Given the description of an element on the screen output the (x, y) to click on. 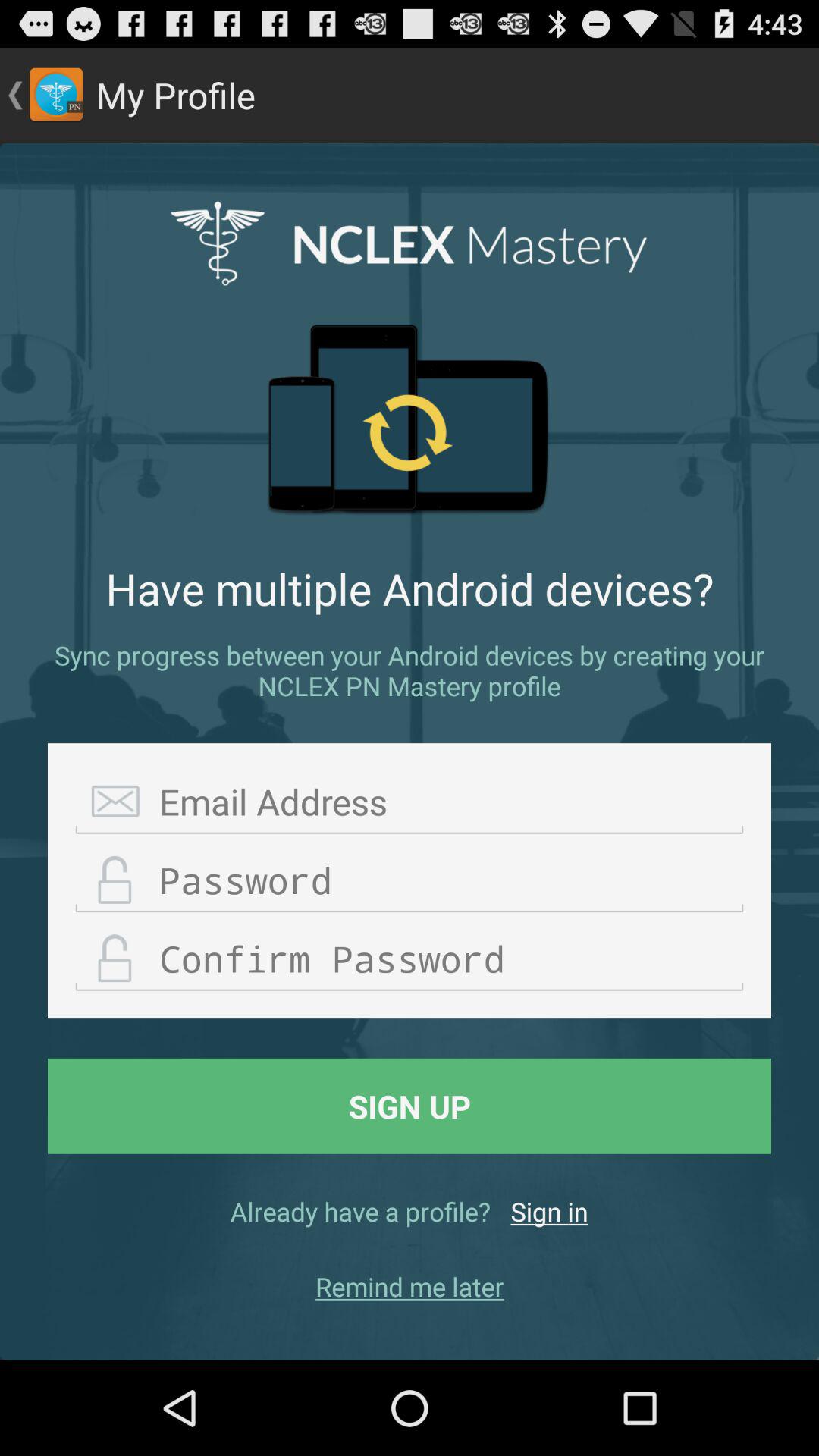
open the remind me later icon (409, 1286)
